Given the description of an element on the screen output the (x, y) to click on. 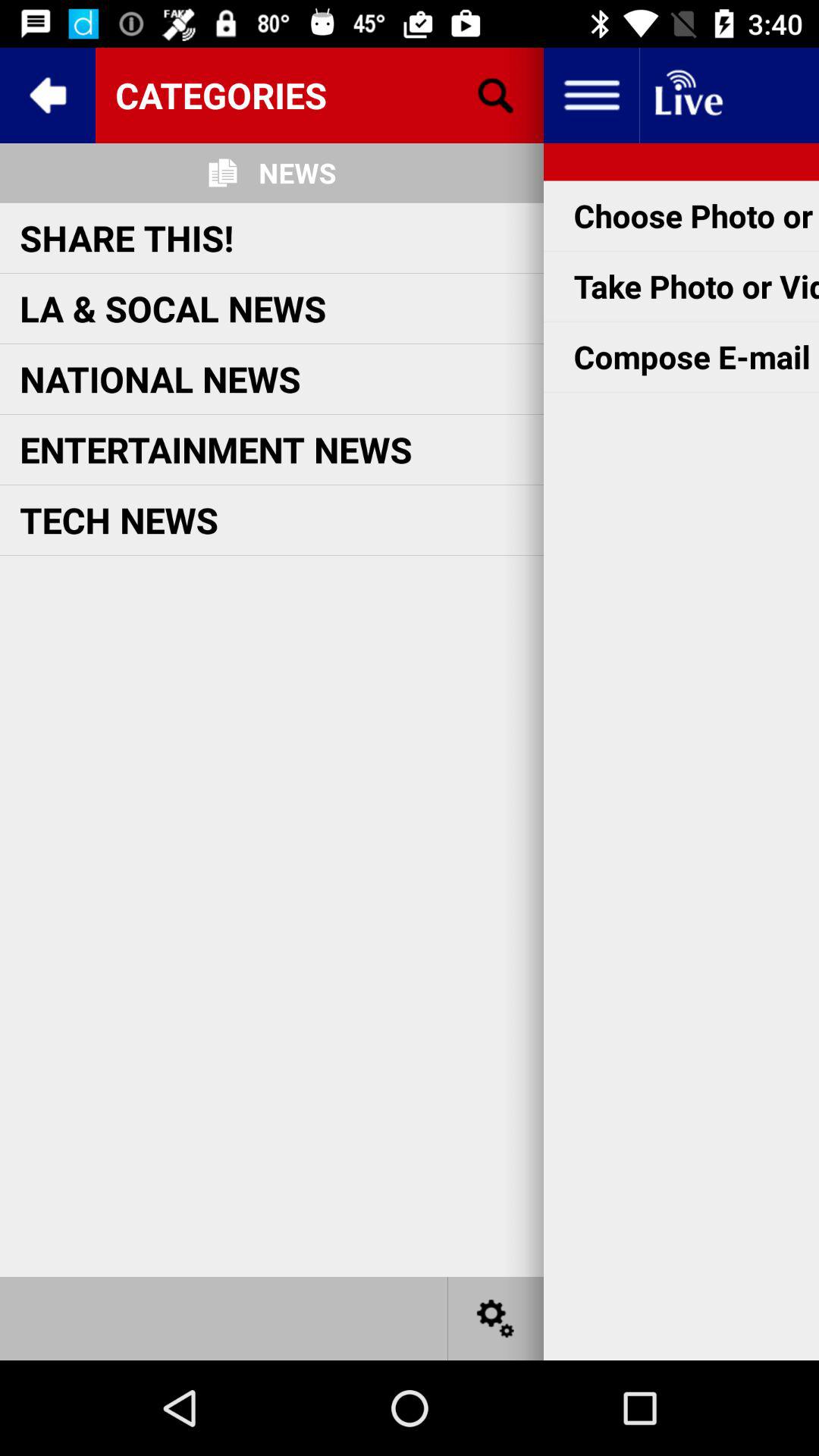
choose icon below the news (126, 237)
